Given the description of an element on the screen output the (x, y) to click on. 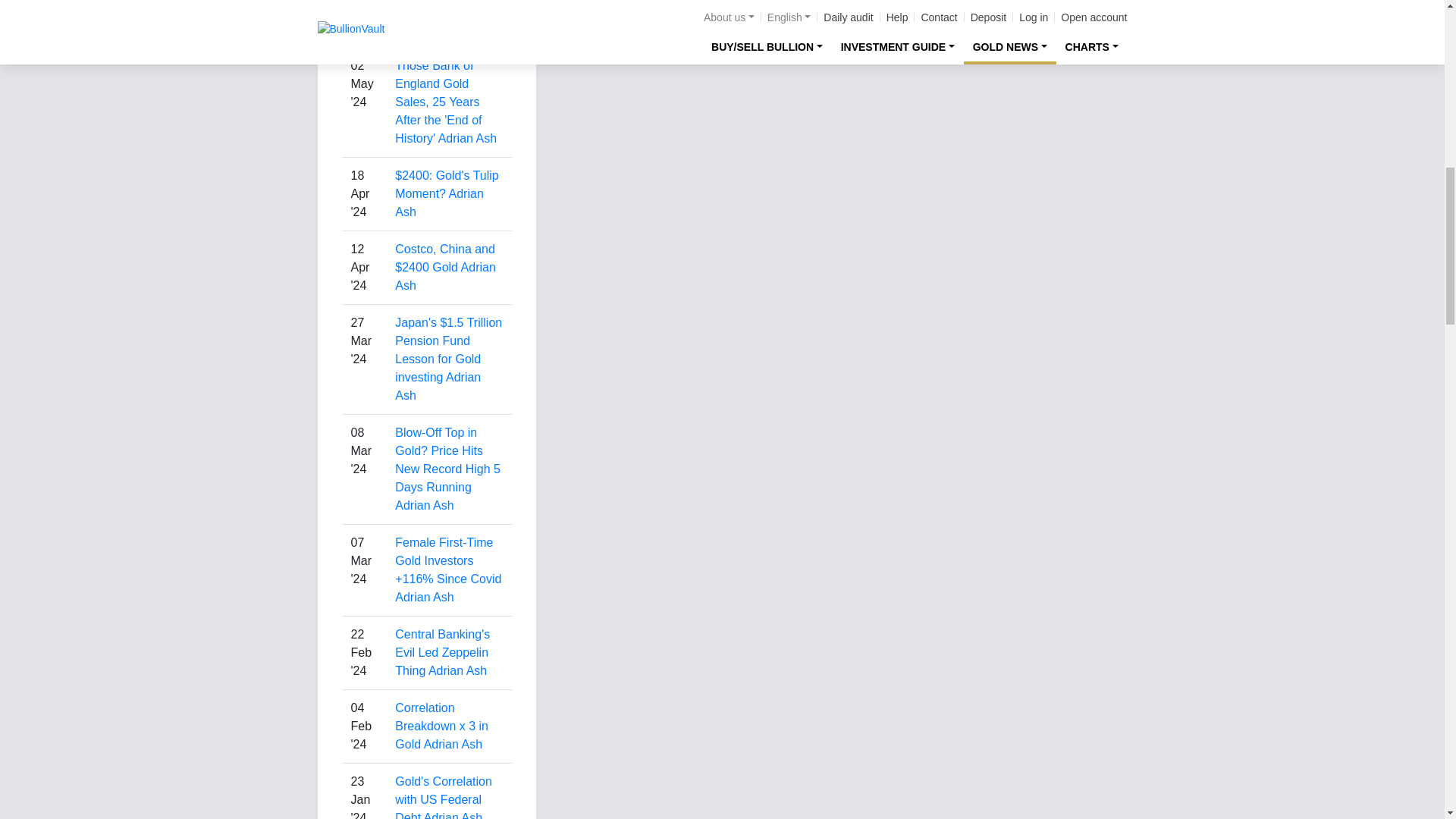
View user profile. (423, 596)
View user profile. (423, 504)
View user profile. (437, 386)
View user profile. (451, 28)
View user profile. (467, 137)
View user profile. (438, 202)
View user profile. (445, 276)
